Given the description of an element on the screen output the (x, y) to click on. 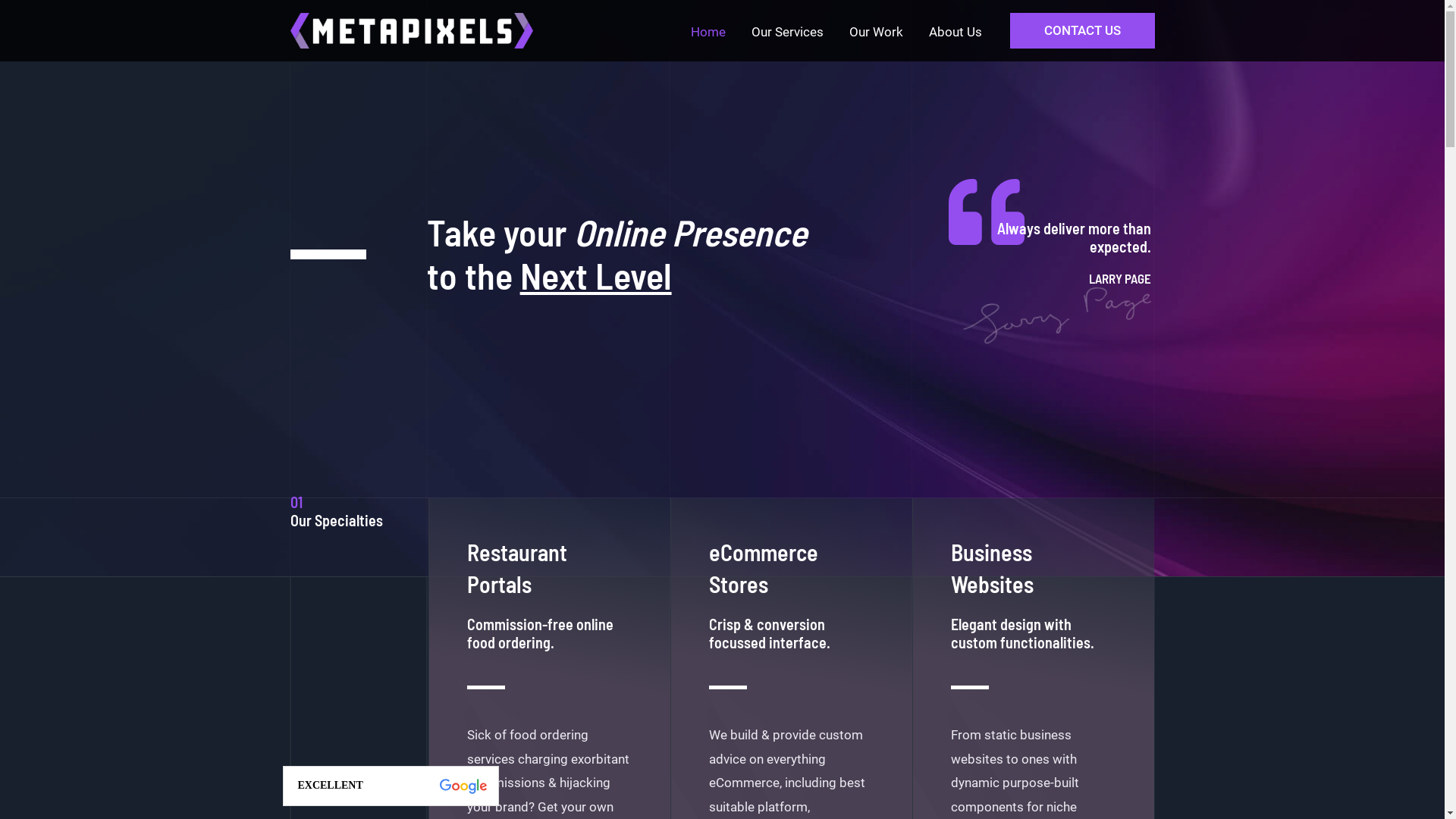
signature-lp Element type: hover (1054, 296)
Home Element type: text (707, 32)
EXCELLENT Element type: text (390, 785)
Our Services Element type: text (787, 32)
CONTACT US Element type: text (1082, 30)
About Us Element type: text (955, 32)
Our Work Element type: text (875, 32)
